Given the description of an element on the screen output the (x, y) to click on. 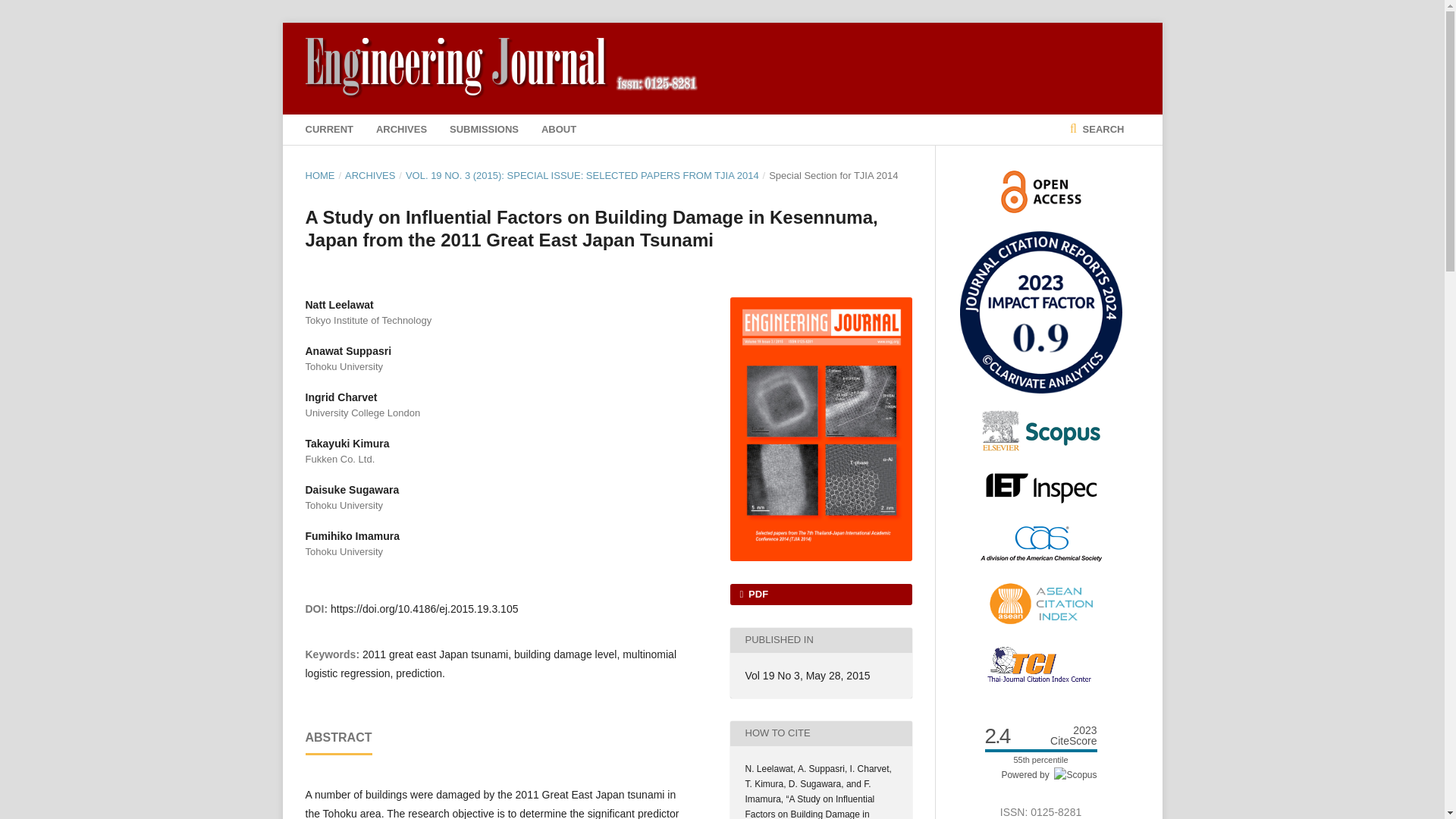
HOME (319, 175)
PDF (820, 594)
ABOUT (558, 129)
CURRENT (328, 129)
SEARCH (1096, 129)
ARCHIVES (400, 129)
SUBMISSIONS (483, 129)
ARCHIVES (369, 175)
